Given the description of an element on the screen output the (x, y) to click on. 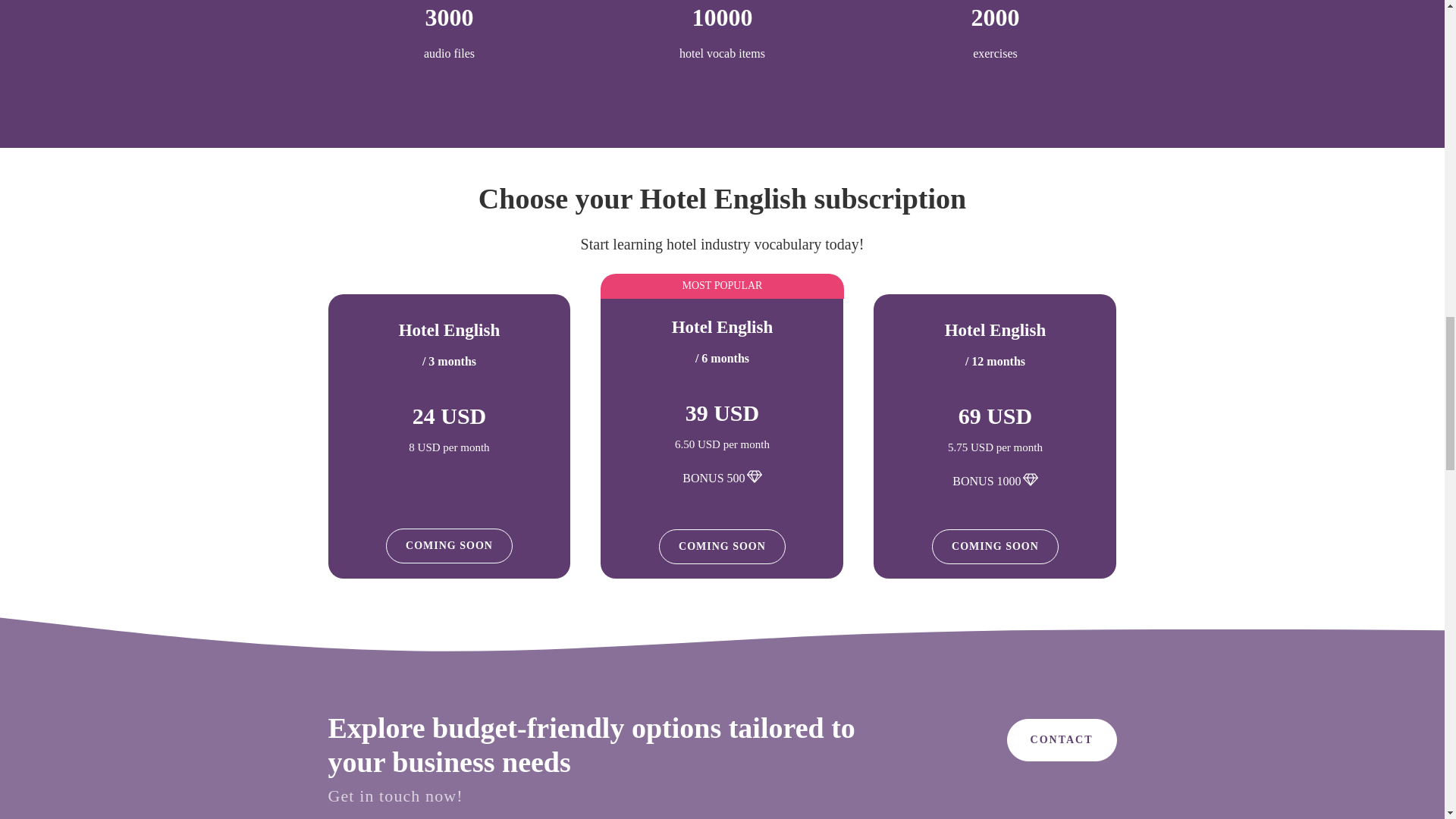
CONTACT (1061, 740)
